Given the description of an element on the screen output the (x, y) to click on. 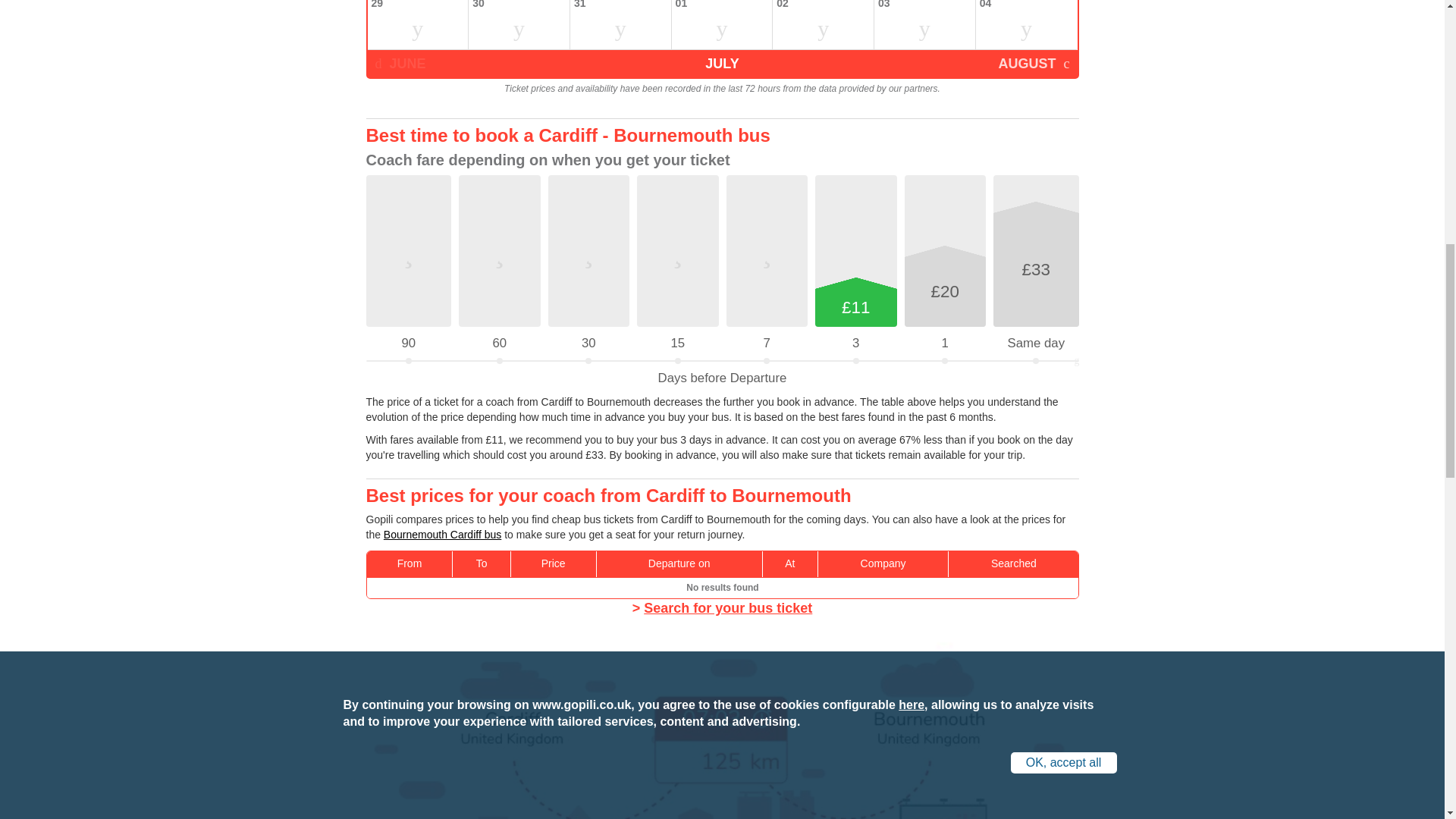
Search for your bus ticket (727, 607)
AUGUST   (1032, 62)
  JUNE (399, 62)
Bournemouth Cardiff bus (442, 534)
